Given the description of an element on the screen output the (x, y) to click on. 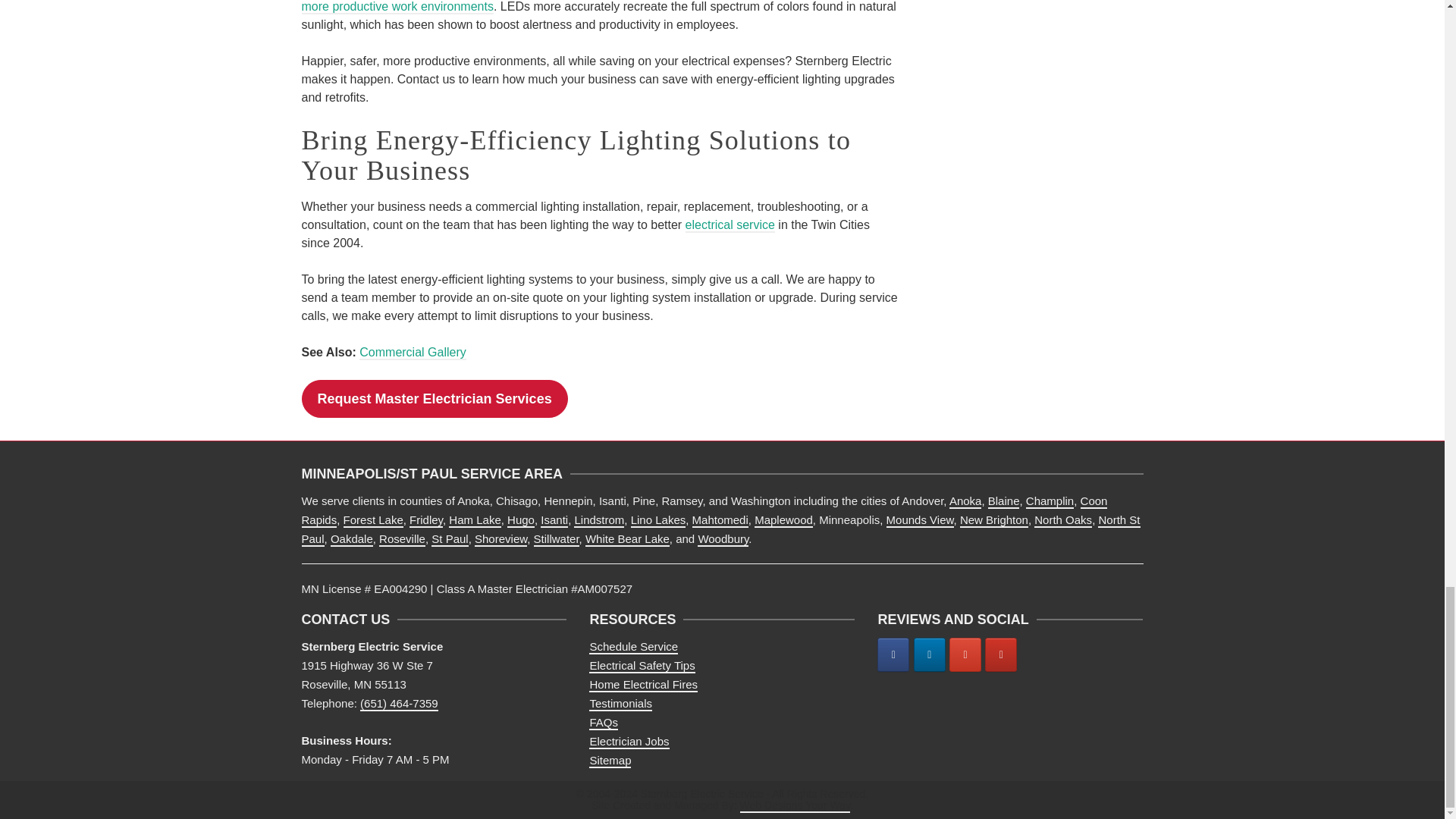
Sternberg Electric Service on Google (965, 654)
Sternberg Electric Service on Linkedin (929, 654)
Sternberg Electric Service on Facebook (892, 654)
Sternberg Electric Service on Youtube (1000, 654)
